Given the description of an element on the screen output the (x, y) to click on. 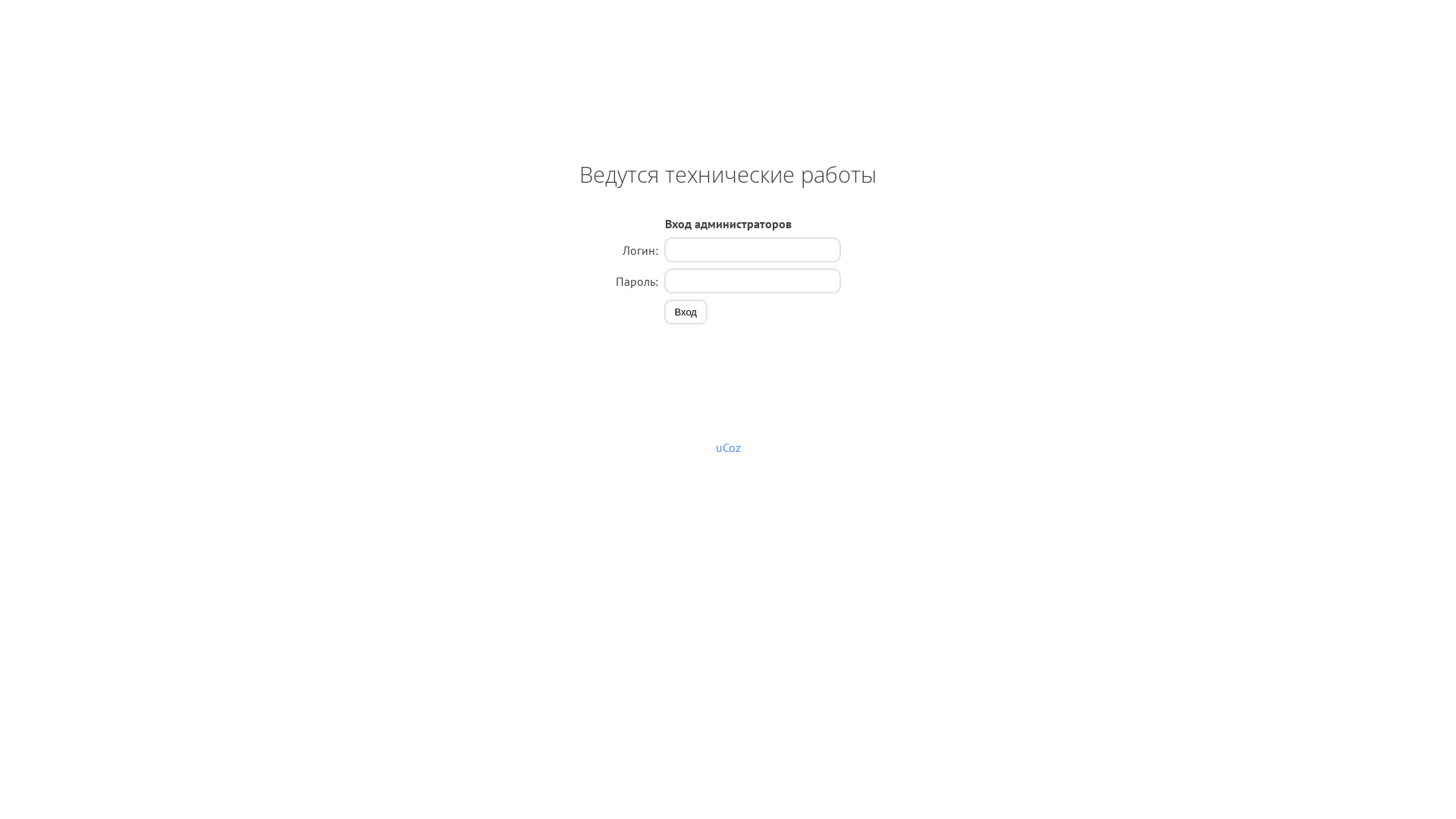
uCoz Element type: text (727, 447)
